Given the description of an element on the screen output the (x, y) to click on. 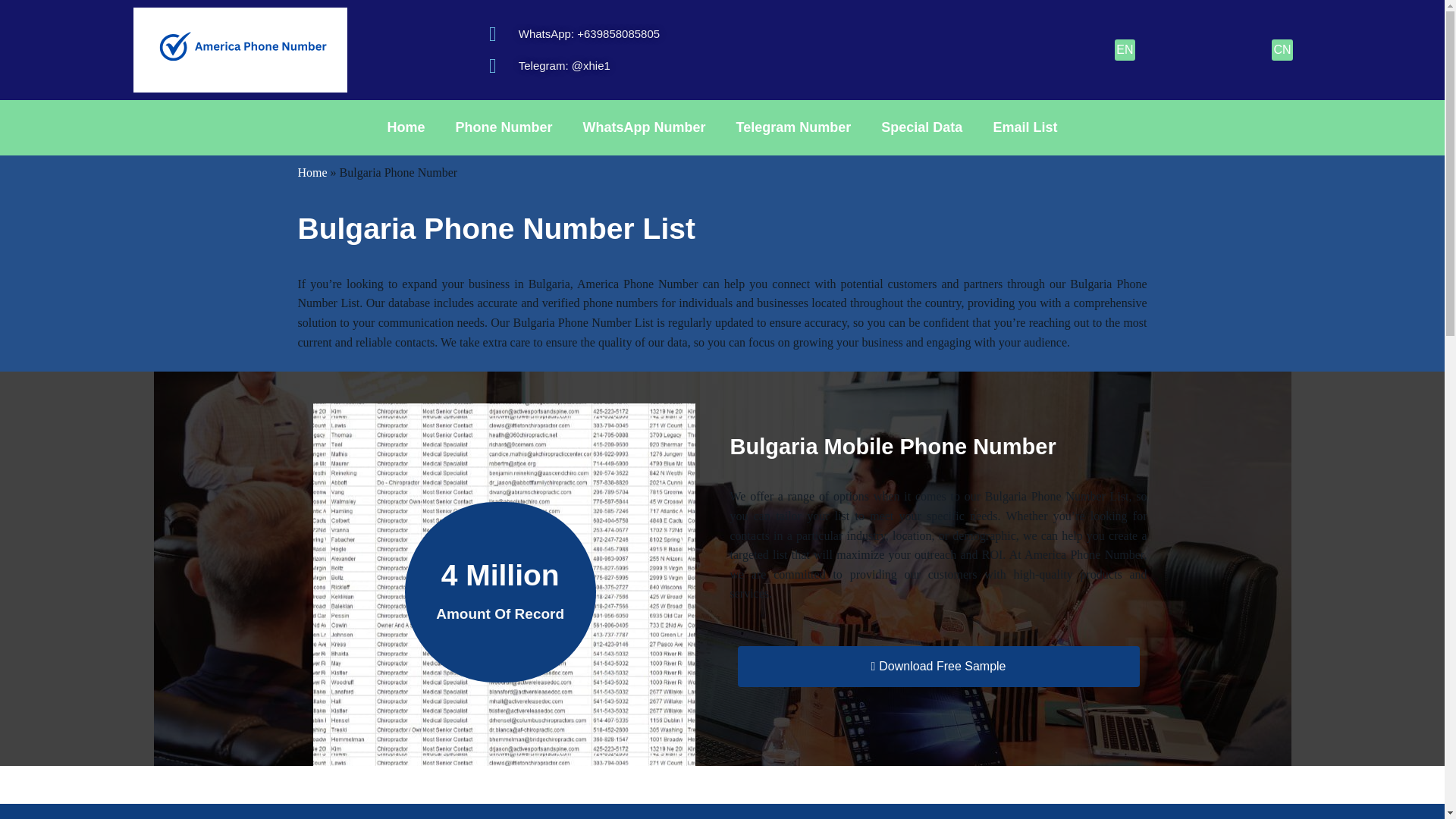
WhatsApp Number (643, 127)
Download Free Sample (937, 666)
Email List (1023, 127)
CN (1281, 49)
Home (311, 172)
Home (406, 127)
Phone Number (504, 127)
Telegram Number (793, 127)
EN (1124, 49)
Special Data (921, 127)
